Given the description of an element on the screen output the (x, y) to click on. 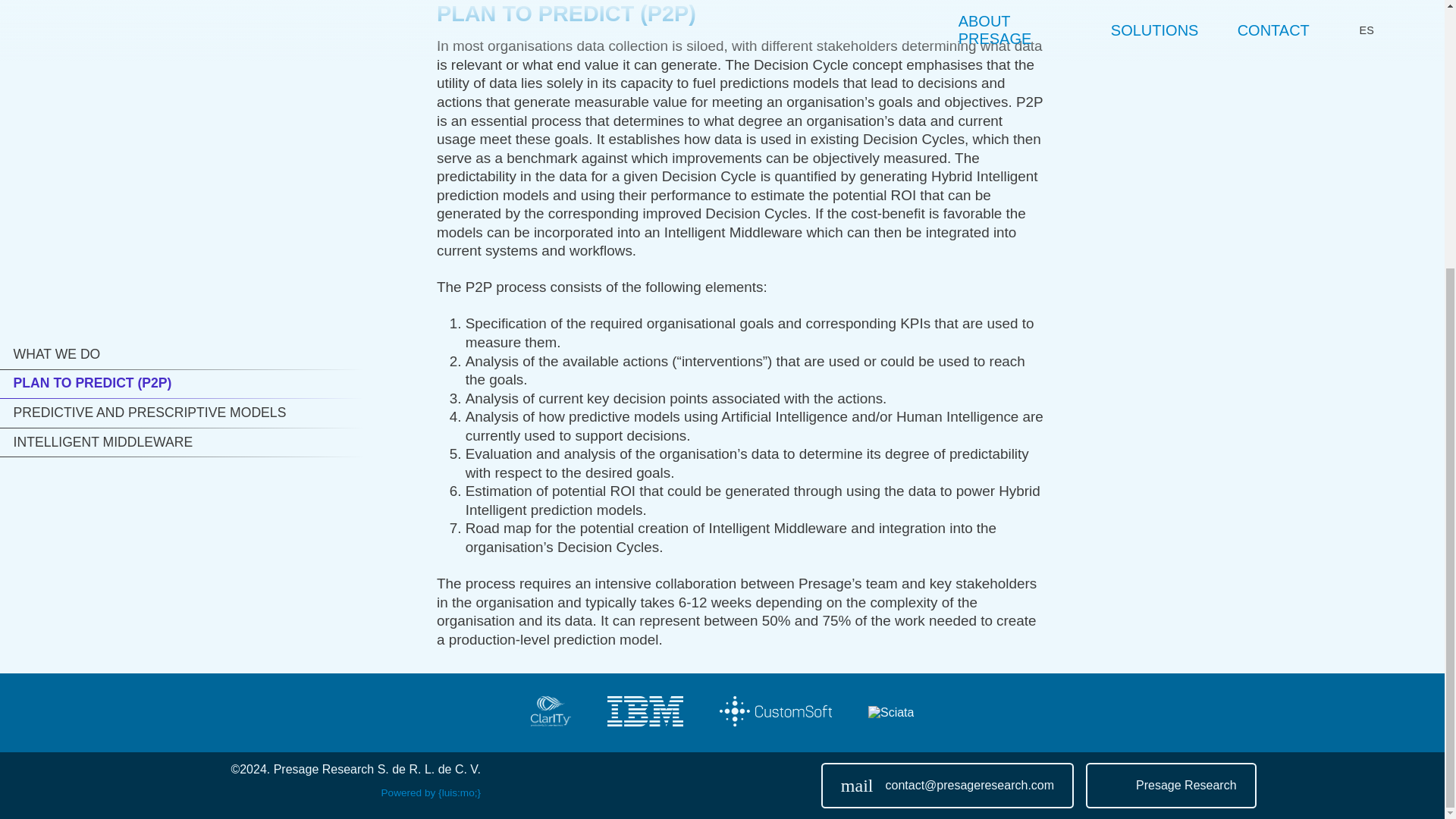
INTELLIGENT MIDDLEWARE (182, 51)
PREDICTIVE AND PRESCRIPTIVE MODELS (1171, 785)
